Given the description of an element on the screen output the (x, y) to click on. 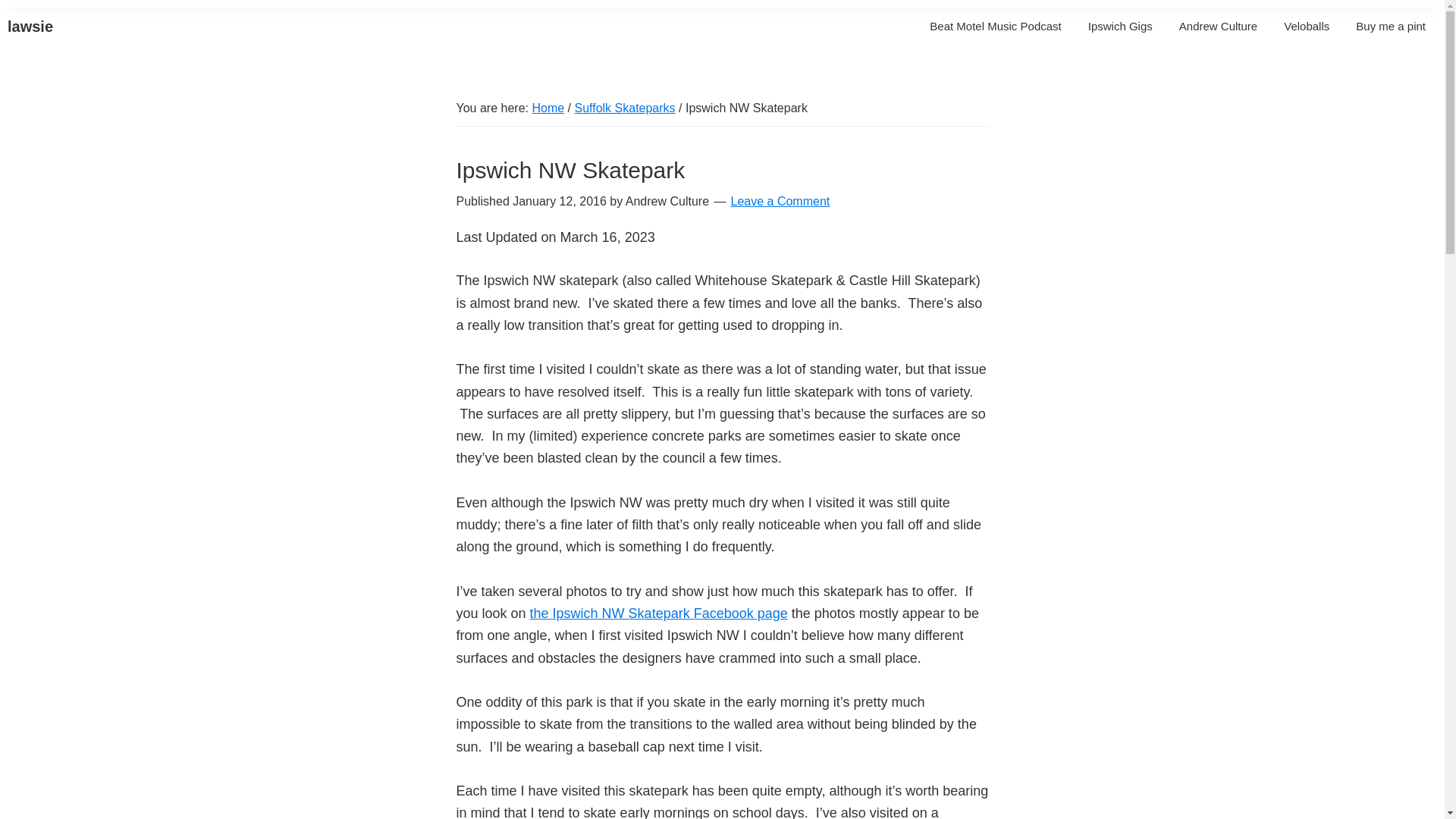
Ipswich Gigs (1120, 25)
lawsie (29, 26)
Home (547, 107)
Veloballs (1306, 25)
Buy me a pint (1390, 25)
Andrew Culture (1217, 25)
Beat Motel Music Podcast (994, 25)
Suffolk Skateparks (624, 107)
Leave a Comment (779, 201)
the Ipswich NW Skatepark Facebook page (658, 613)
